Given the description of an element on the screen output the (x, y) to click on. 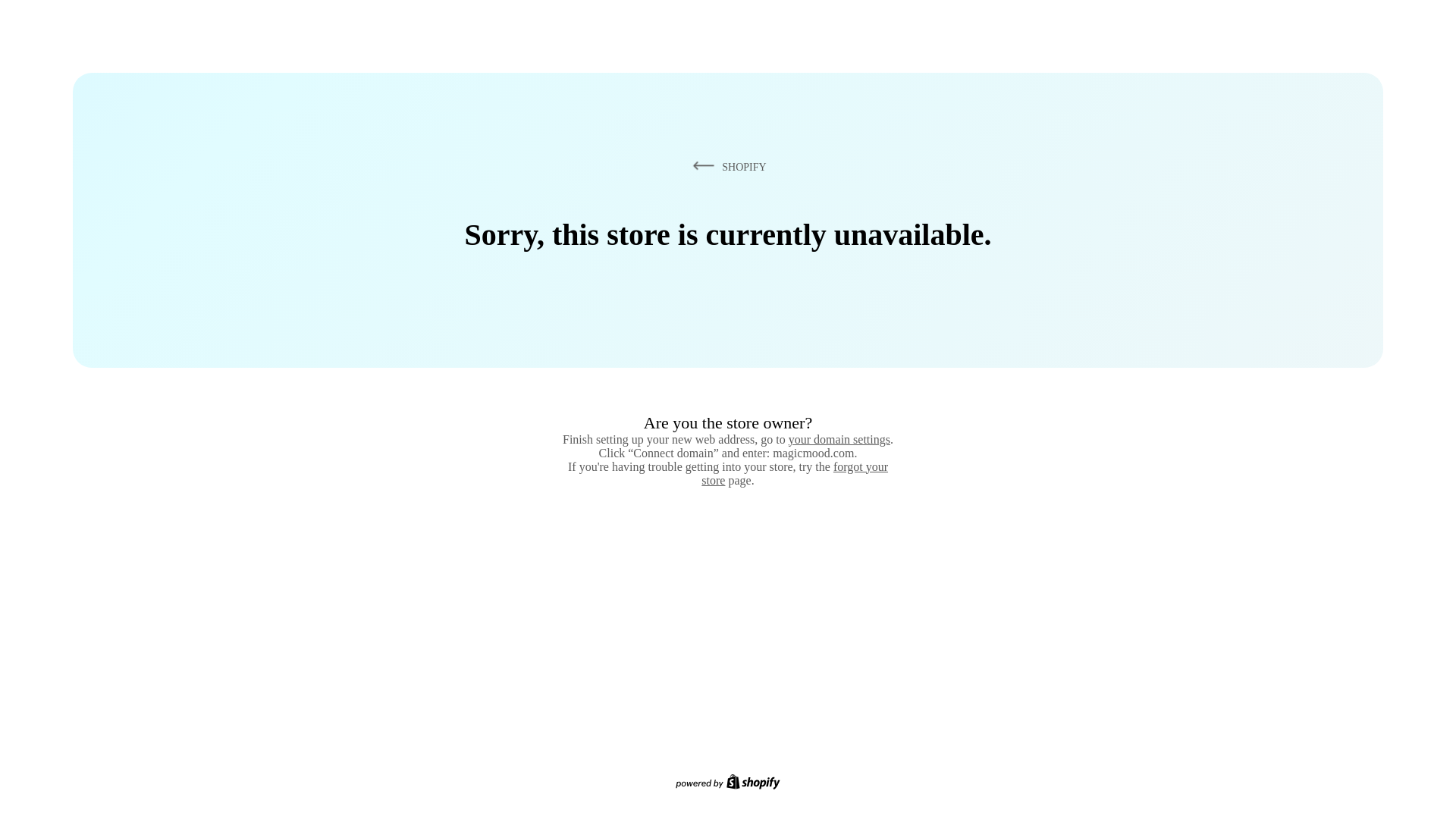
your domain settings (839, 439)
SHOPIFY (726, 166)
forgot your store (794, 473)
